Given the description of an element on the screen output the (x, y) to click on. 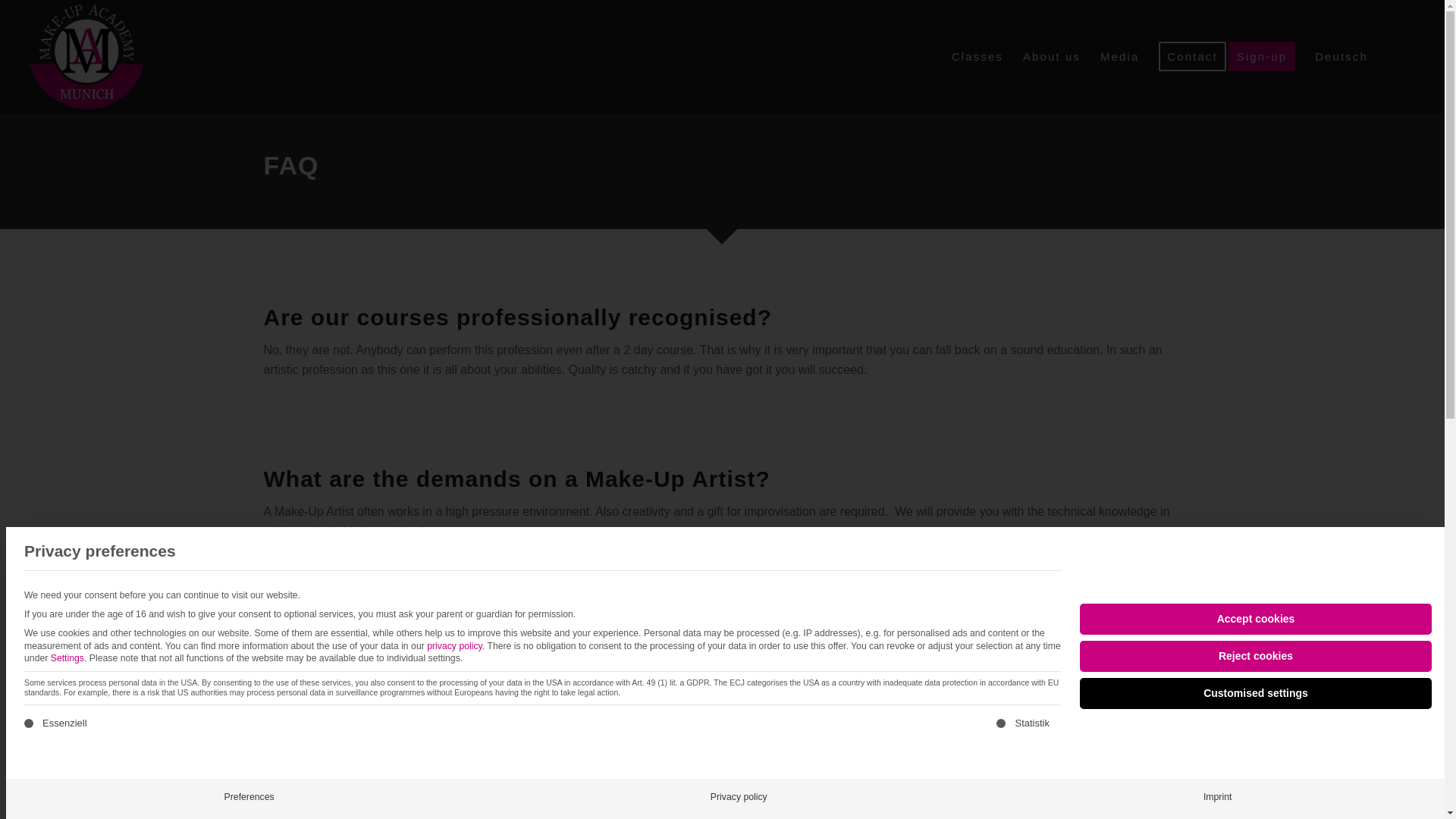
privacy policy (453, 645)
Settings (67, 657)
Customised settings (1255, 693)
Accept cookies (1255, 618)
Reject cookies (1255, 655)
Imprint (1217, 796)
Privacy policy (738, 796)
Preferences (249, 796)
